Given the description of an element on the screen output the (x, y) to click on. 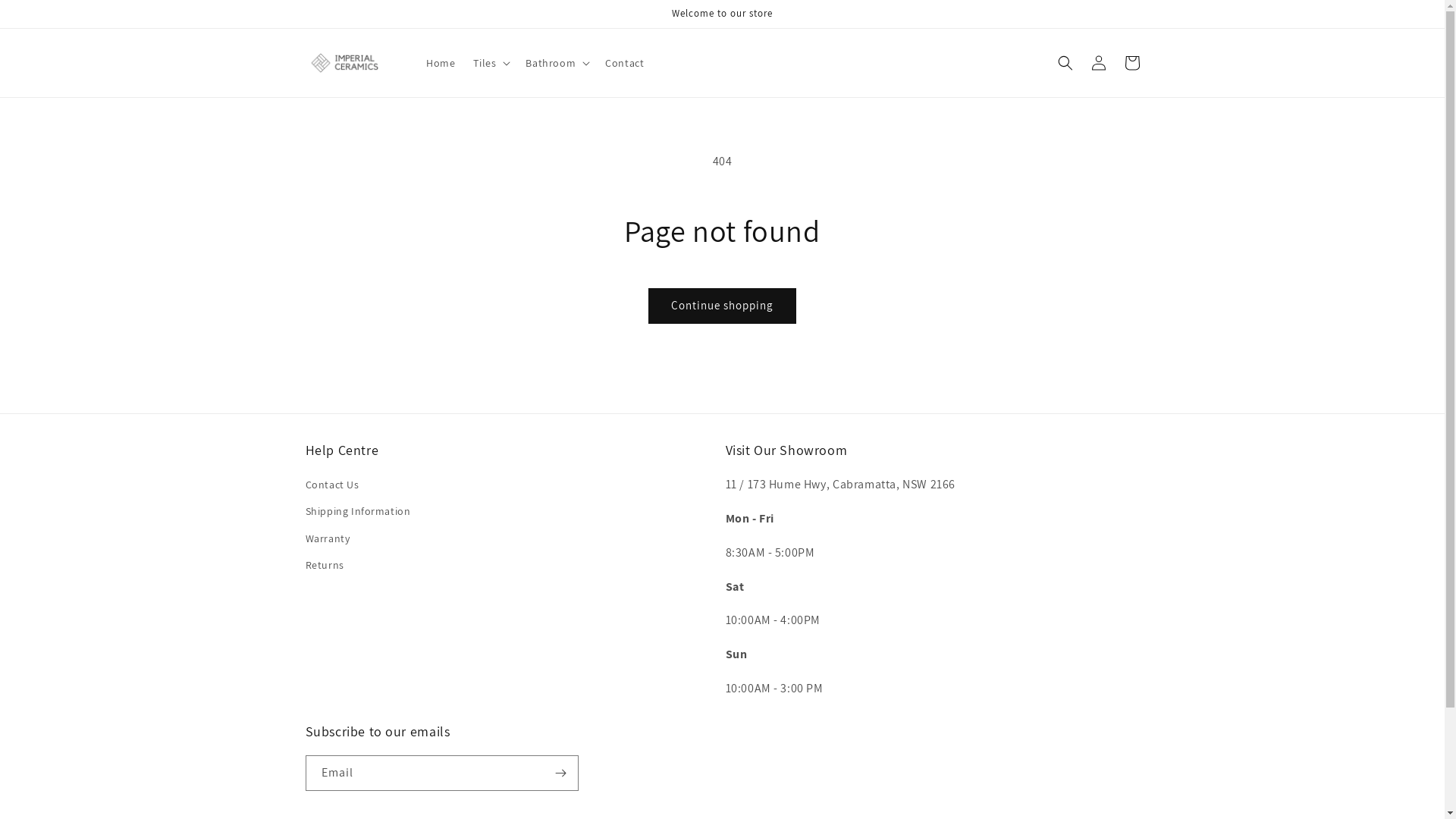
Contact Element type: text (624, 62)
Home Element type: text (440, 62)
Warranty Element type: text (326, 538)
Shipping Information Element type: text (357, 511)
Cart Element type: text (1131, 62)
Contact Us Element type: text (331, 486)
Log in Element type: text (1097, 62)
Returns Element type: text (323, 565)
Continue shopping Element type: text (722, 305)
